Given the description of an element on the screen output the (x, y) to click on. 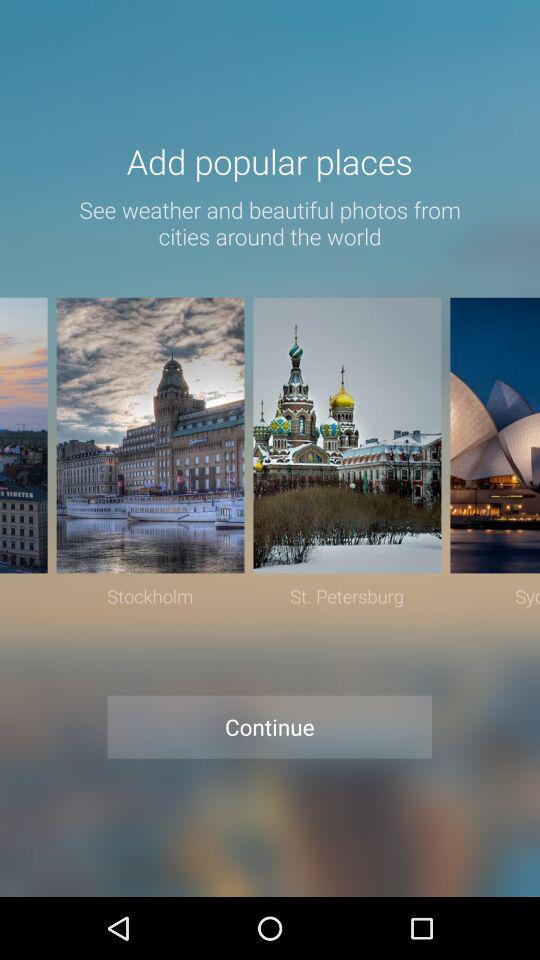
tap the continue at the bottom (269, 726)
